Given the description of an element on the screen output the (x, y) to click on. 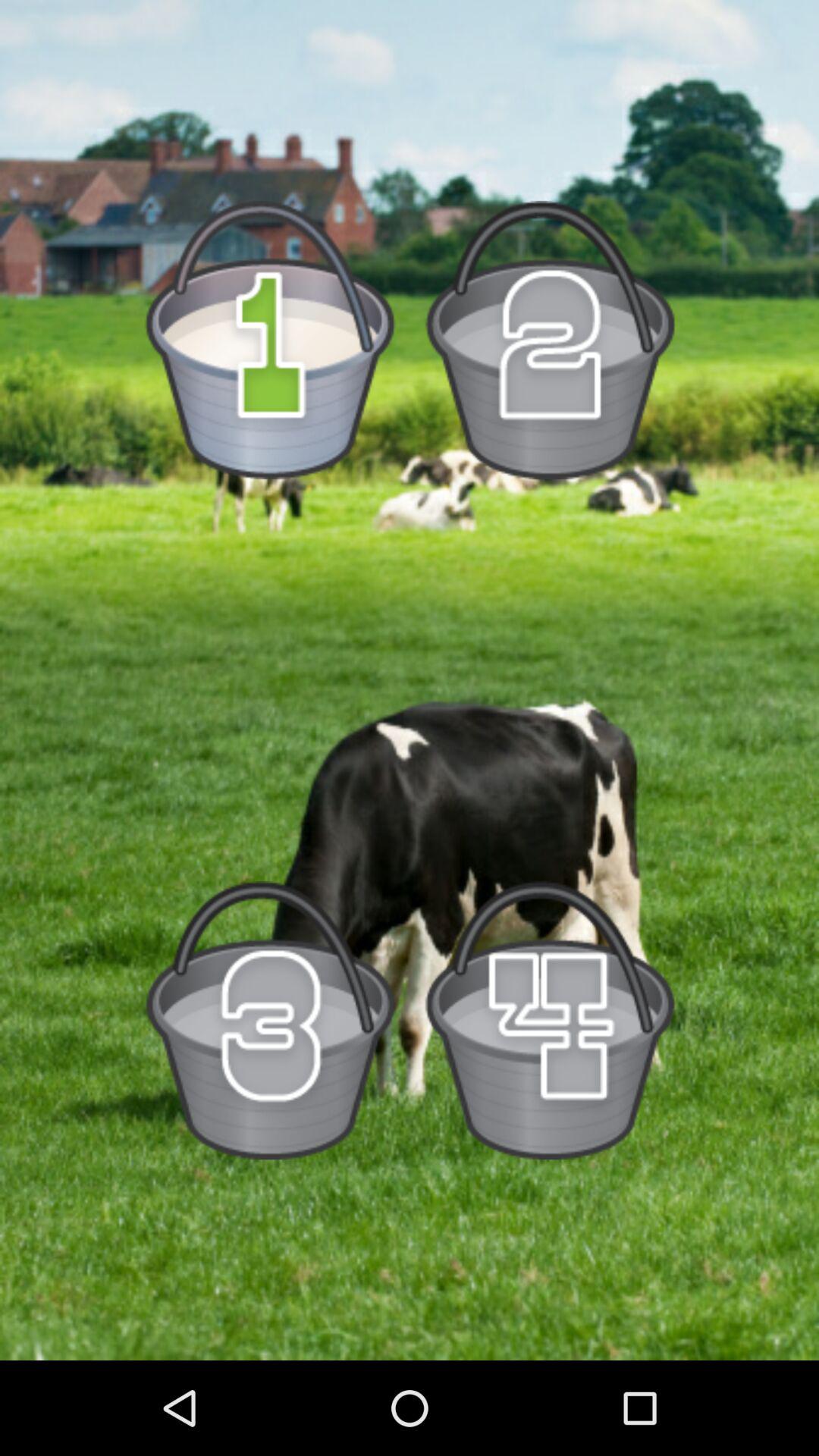
select 1 (269, 339)
